Given the description of an element on the screen output the (x, y) to click on. 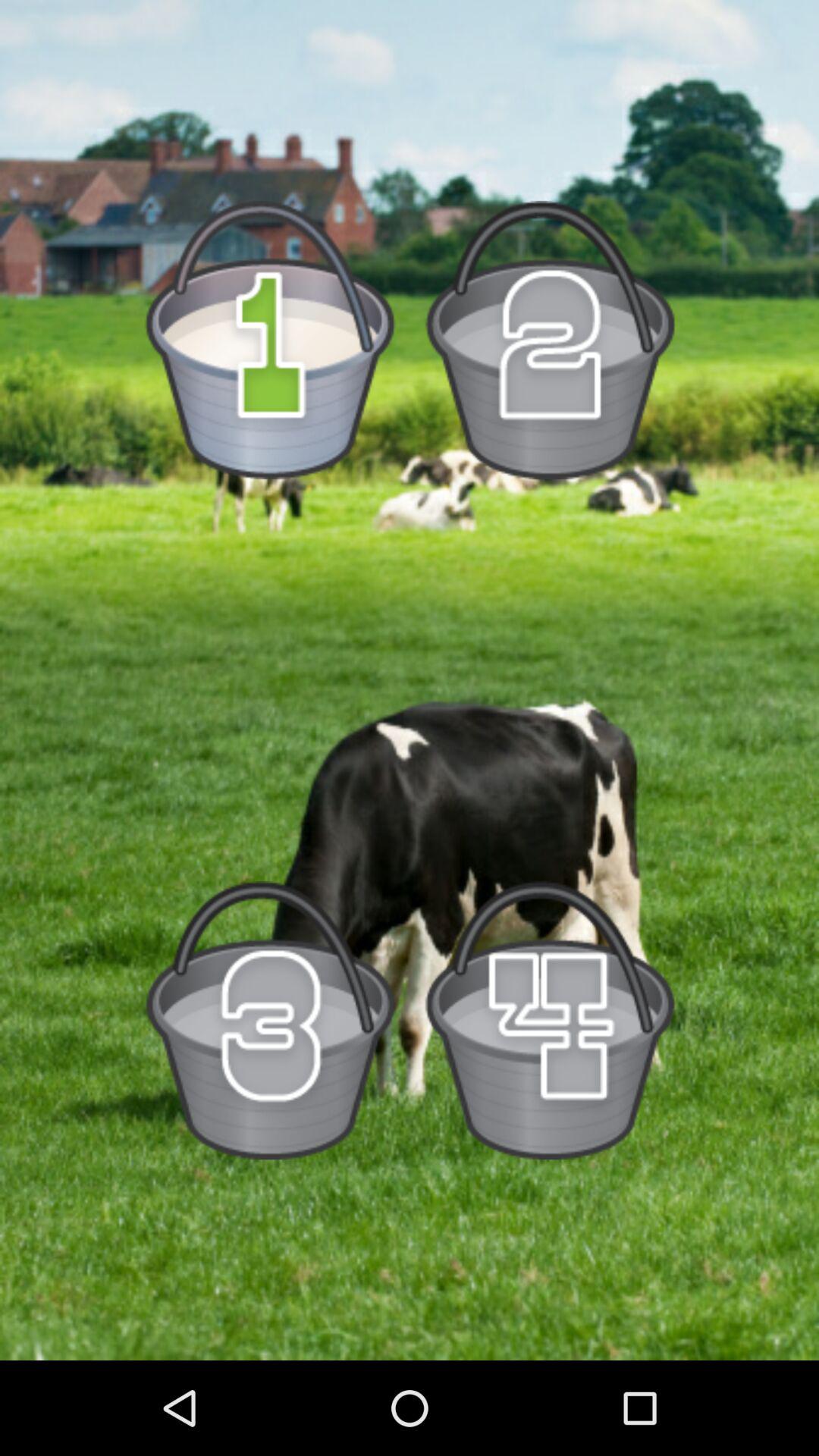
select 1 (269, 339)
